Given the description of an element on the screen output the (x, y) to click on. 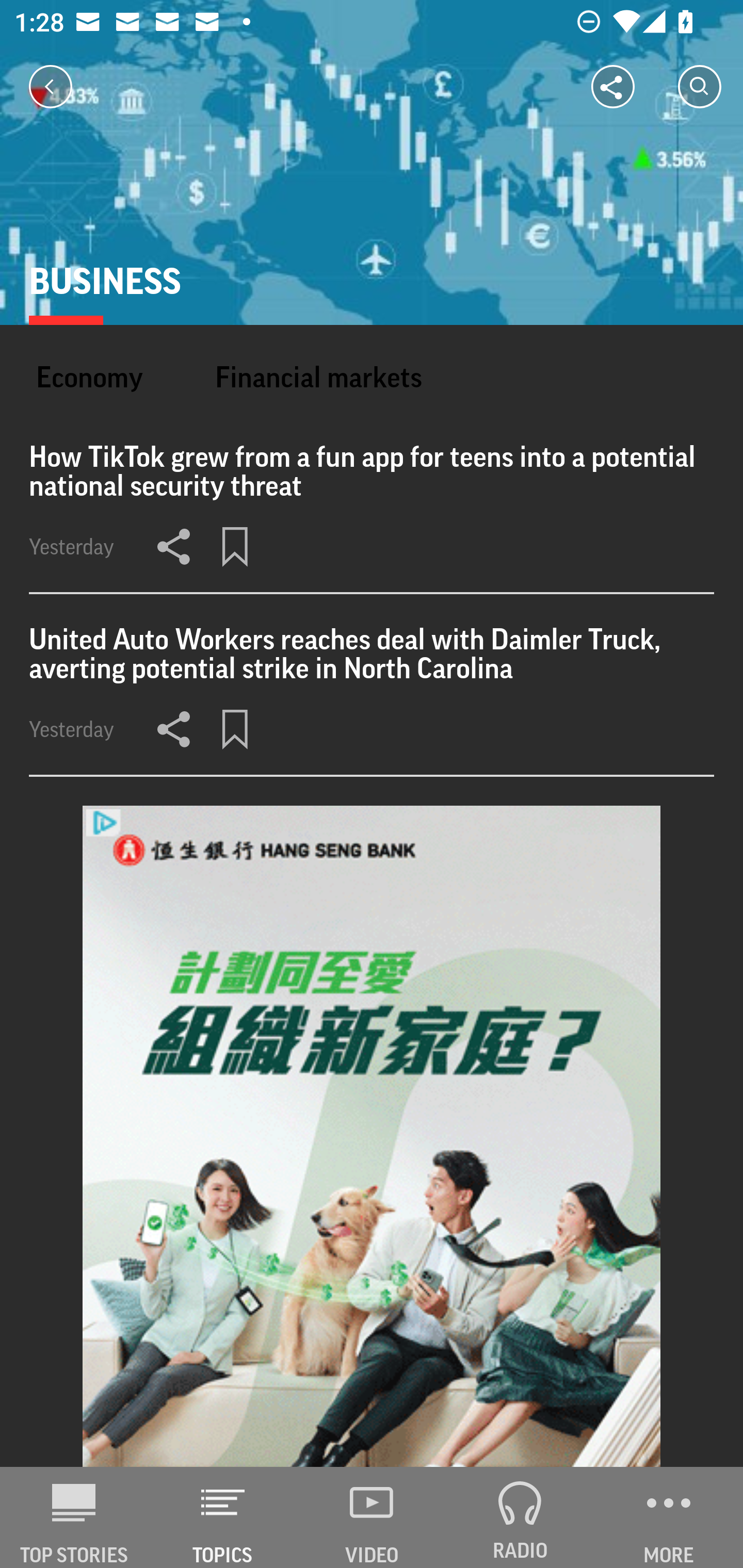
Advertisement (371, 1136)
AP News TOP STORIES (74, 1517)
TOPICS (222, 1517)
VIDEO (371, 1517)
RADIO (519, 1517)
MORE (668, 1517)
